Given the description of an element on the screen output the (x, y) to click on. 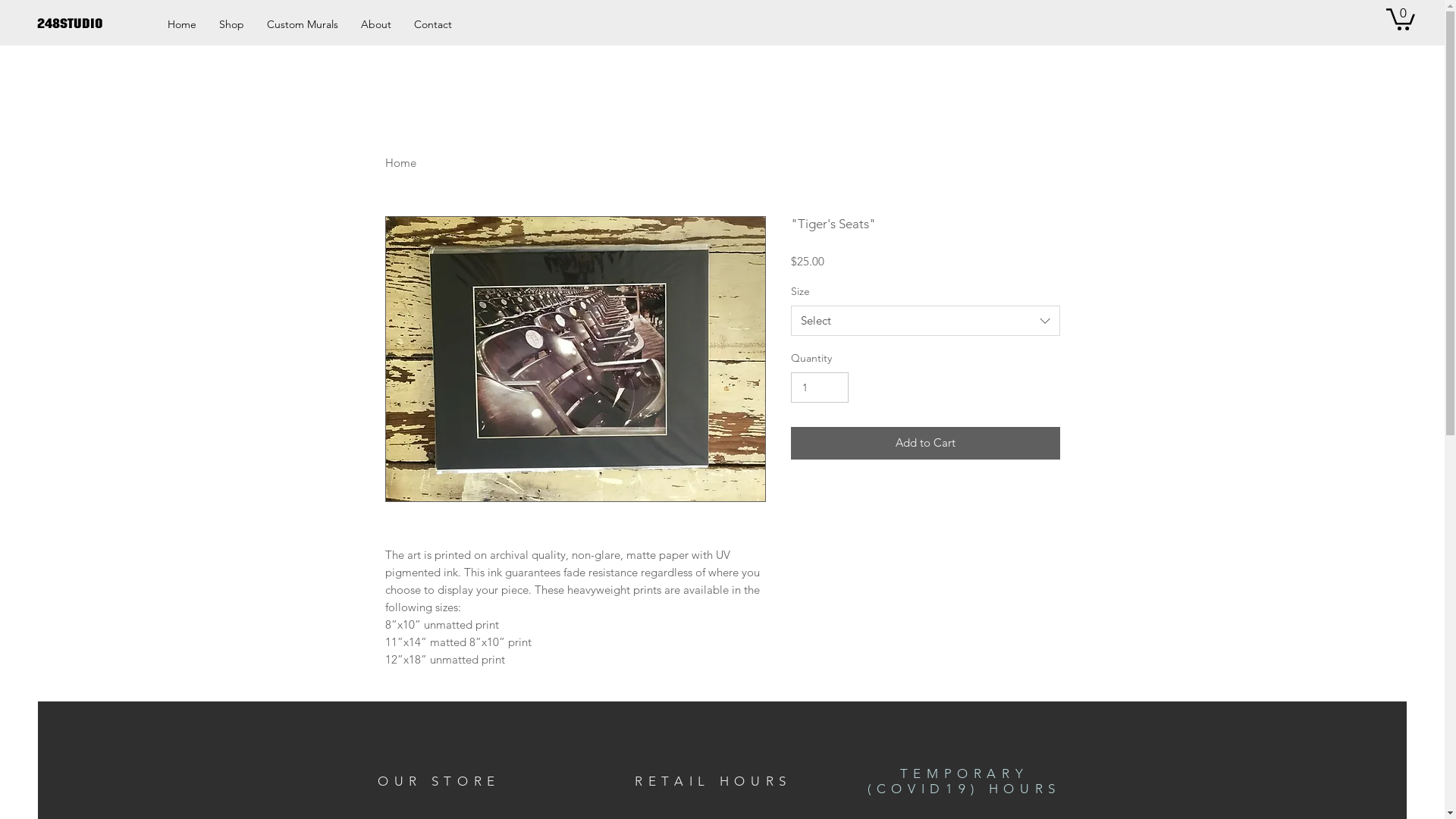
Custom Murals Element type: text (302, 24)
0 Element type: text (1400, 18)
About Element type: text (375, 24)
Contact Element type: text (432, 24)
Shop Element type: text (231, 24)
Select Element type: text (924, 320)
Add to Cart Element type: text (924, 442)
248STUDIO Element type: text (88, 23)
Home Element type: text (400, 162)
Home Element type: text (181, 24)
